Given the description of an element on the screen output the (x, y) to click on. 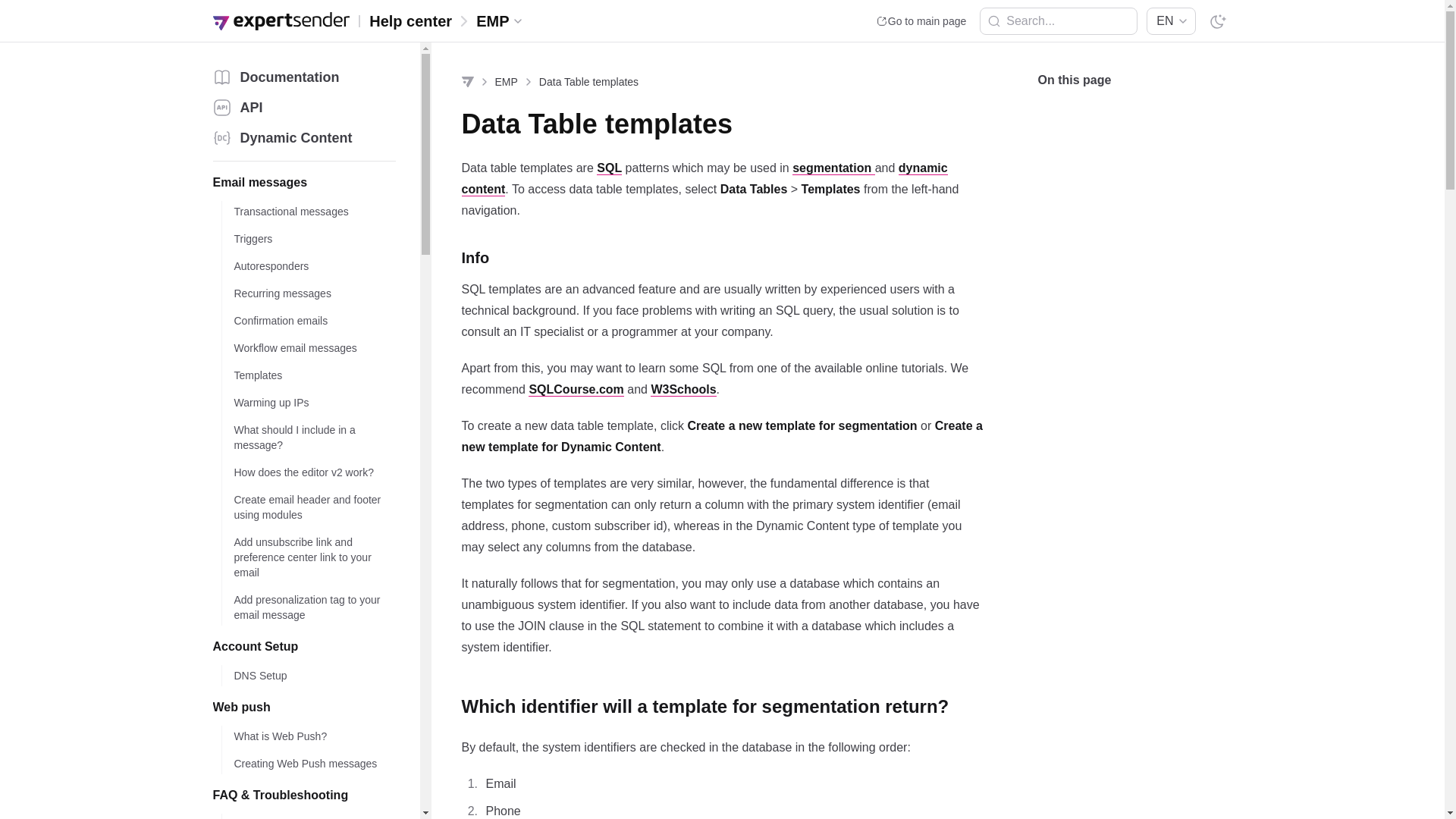
EMP (501, 20)
Creating Web Push messages (308, 762)
What is Web Push? (308, 735)
API (303, 107)
Search... (1058, 21)
Autoresponders (308, 265)
Dynamic Content (303, 137)
How does the editor v2 work? (308, 472)
Transactional messages (308, 210)
